Given the description of an element on the screen output the (x, y) to click on. 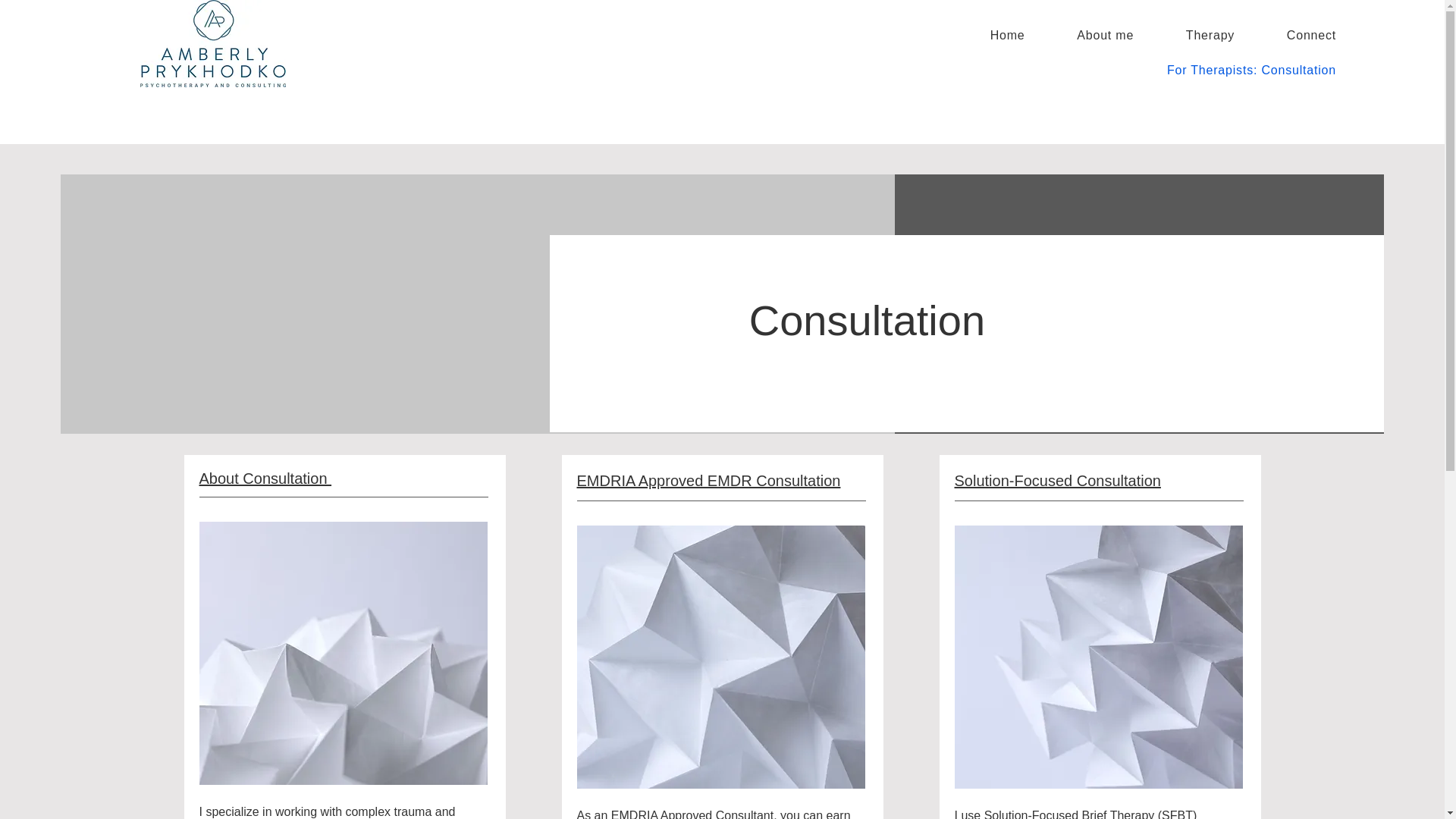
About Consultation  (264, 478)
EMDRIA Approved EMDR Consultation (708, 479)
About me (1090, 35)
Connect (1295, 35)
Home (992, 35)
For Therapists: Consultation (1147, 70)
Therapy (1194, 35)
Solution-Focused Consultation (1056, 479)
